Given the description of an element on the screen output the (x, y) to click on. 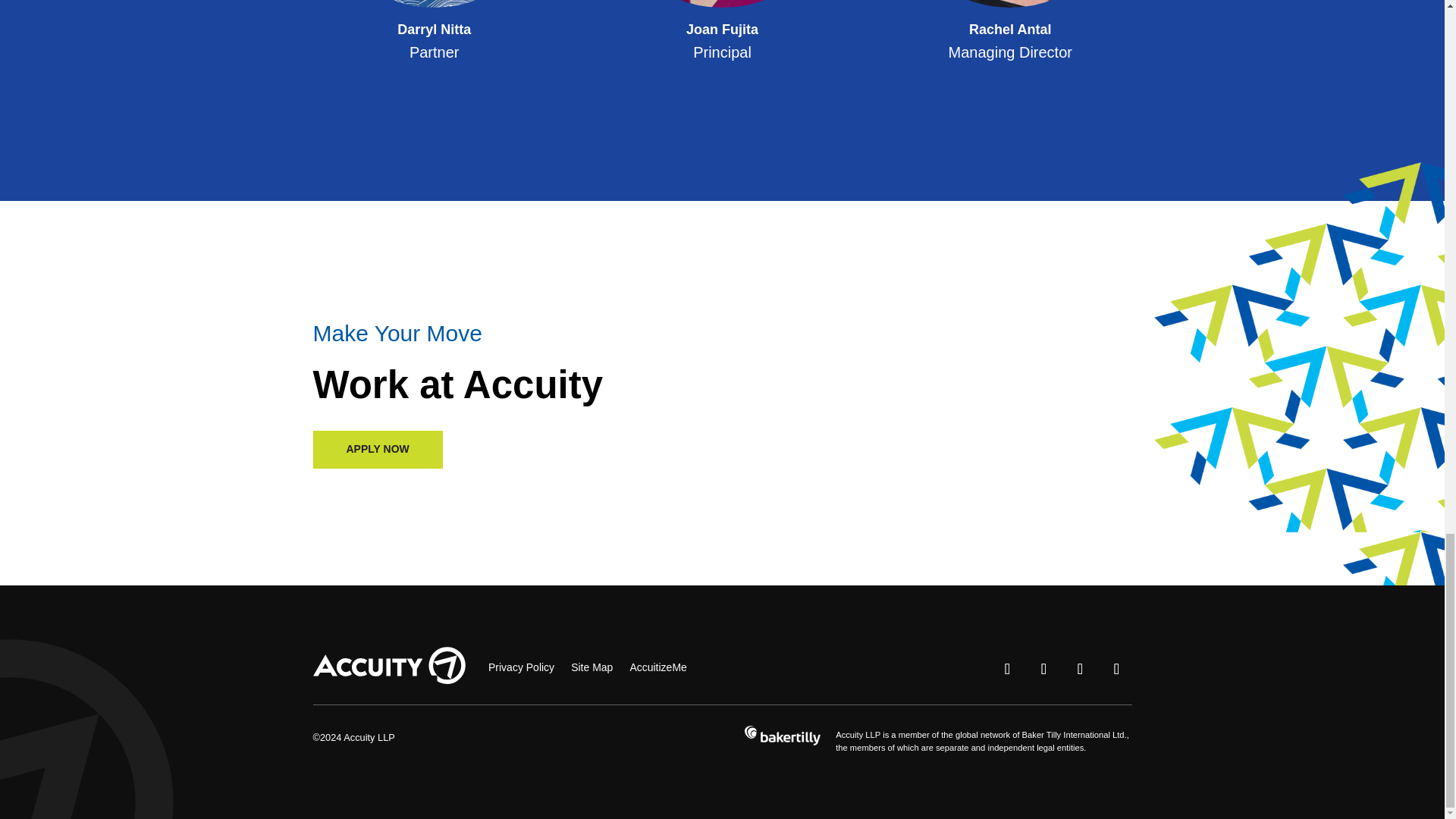
Follow on Twitter (1042, 668)
Follow on LinkedIn (1115, 668)
Follow on Facebook (1079, 668)
Site Map (591, 666)
Follow on Instagram (1006, 668)
Privacy Policy (520, 666)
AccuitizeMe (656, 666)
APPLY NOW (377, 449)
